Given the description of an element on the screen output the (x, y) to click on. 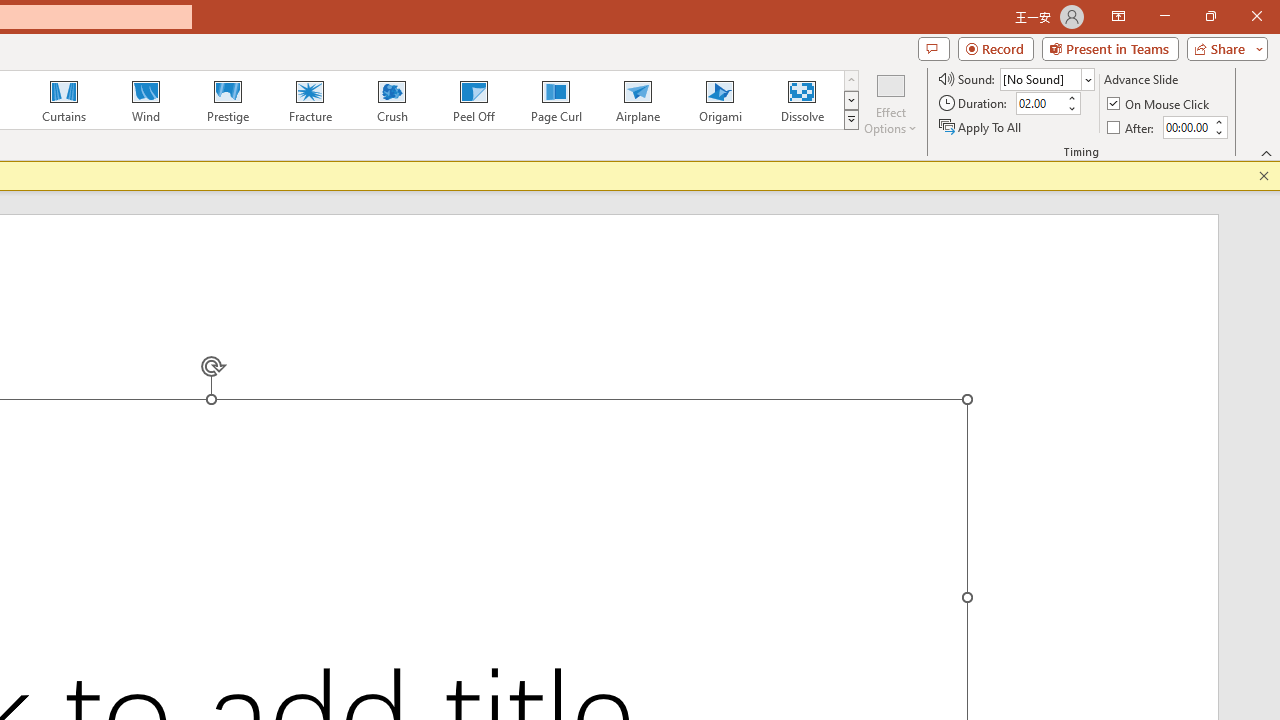
Wind (145, 100)
Curtains (63, 100)
After (1186, 127)
